Given the description of an element on the screen output the (x, y) to click on. 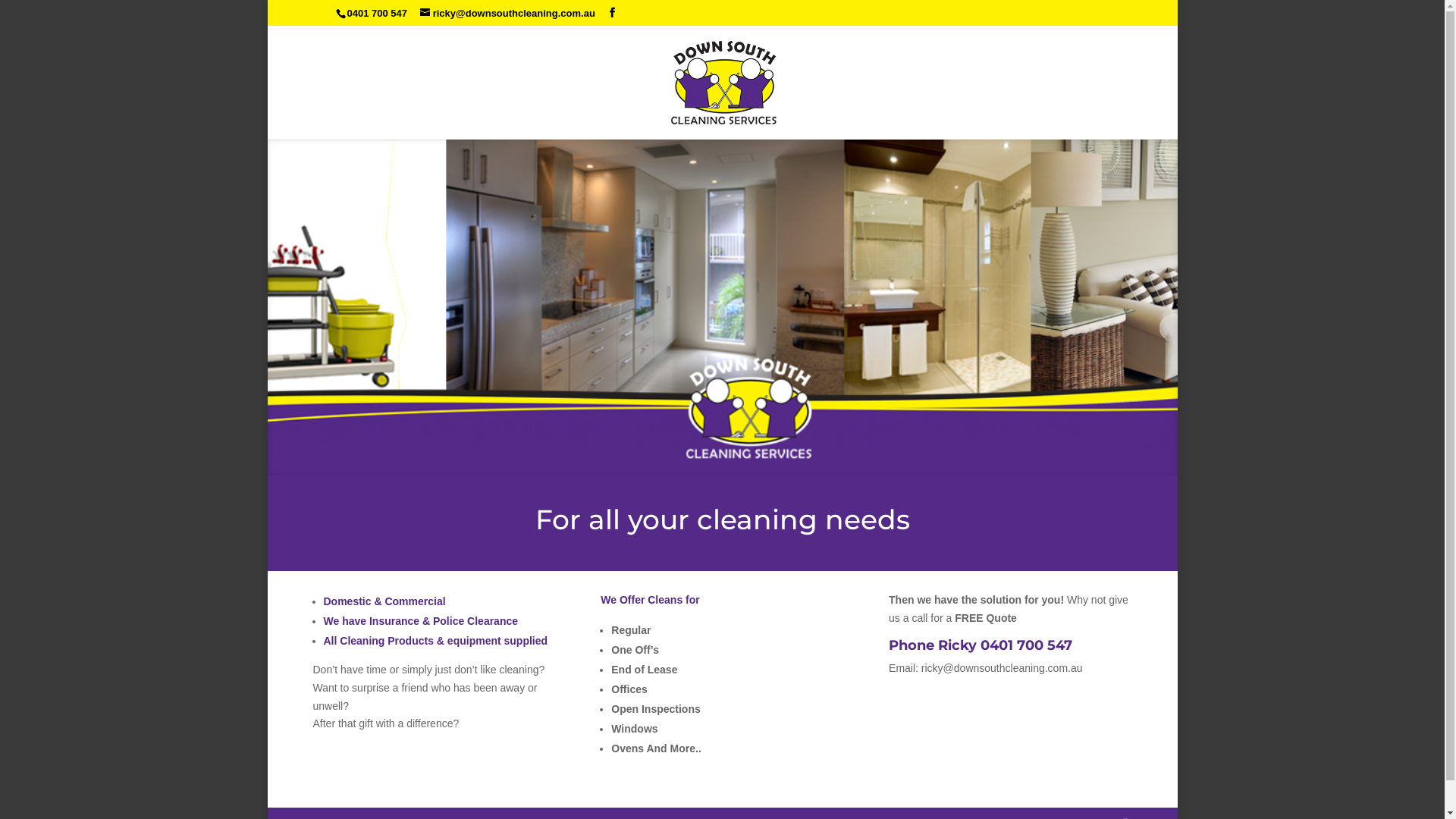
ricky@downsouthcleaning.com.au Element type: text (507, 12)
